Given the description of an element on the screen output the (x, y) to click on. 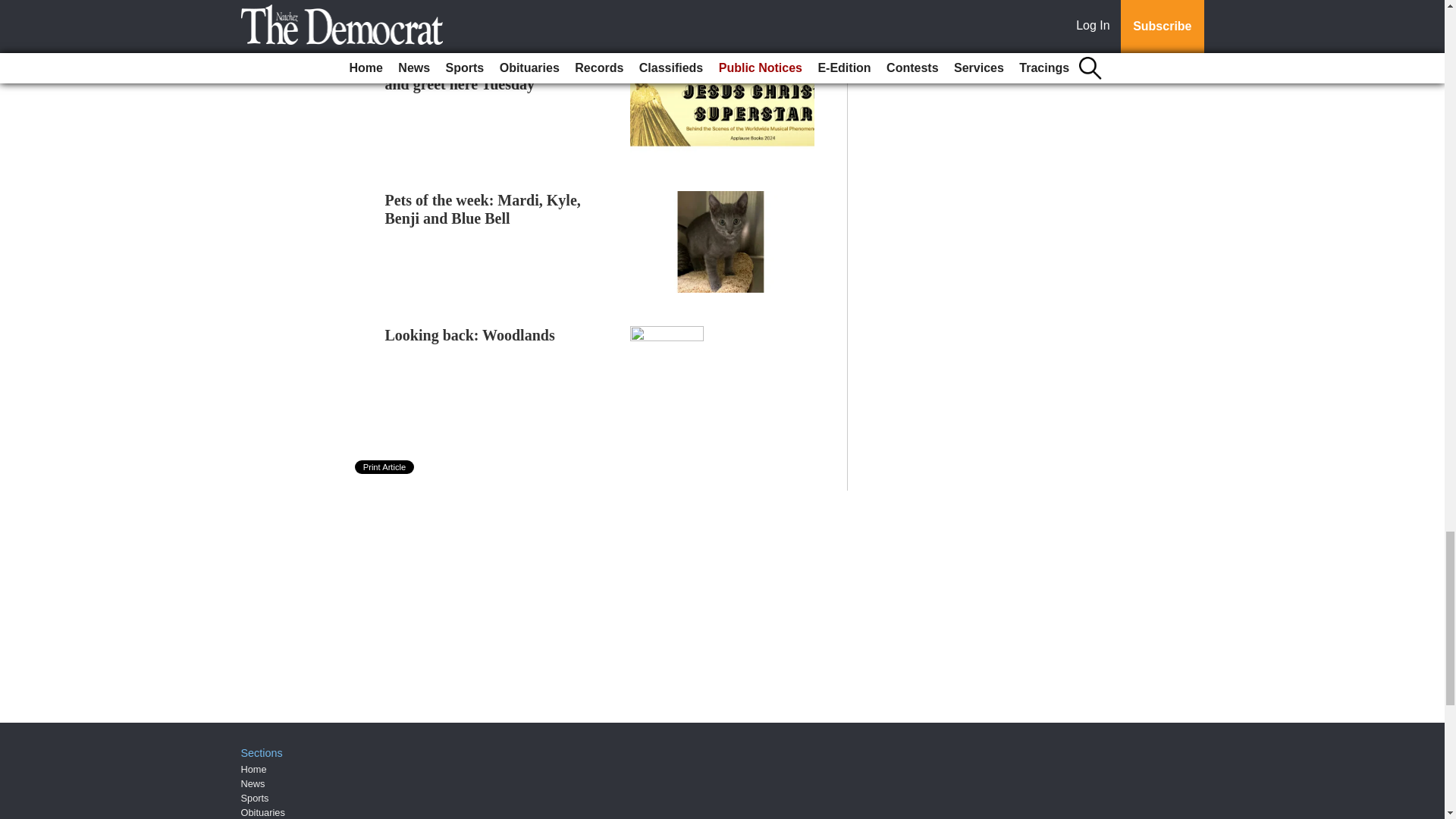
Author Ellis Nassour plans meet and greet here Tuesday (489, 74)
Looking back: Woodlands (469, 334)
Author Ellis Nassour plans meet and greet here Tuesday (489, 74)
Pets of the week: Mardi, Kyle, Benji and Blue Bell (482, 208)
Pets of the week: Mardi, Kyle, Benji and Blue Bell (482, 208)
